Given the description of an element on the screen output the (x, y) to click on. 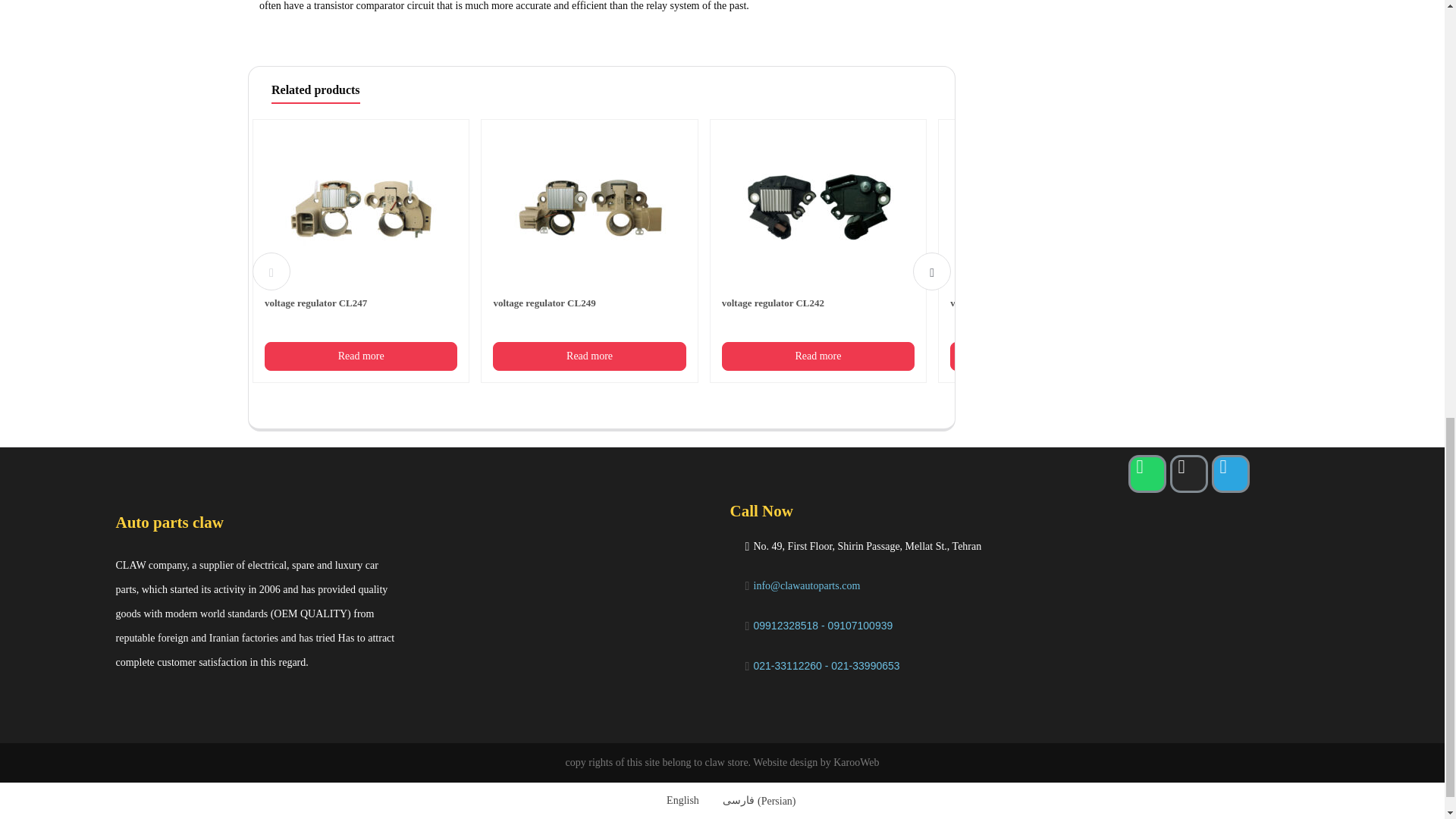
voltage regulator CL242 (818, 231)
voltage regulator CL249 (589, 231)
voltage regulator CL248 (1046, 231)
voltage regulator CL247 (360, 231)
